Given the description of an element on the screen output the (x, y) to click on. 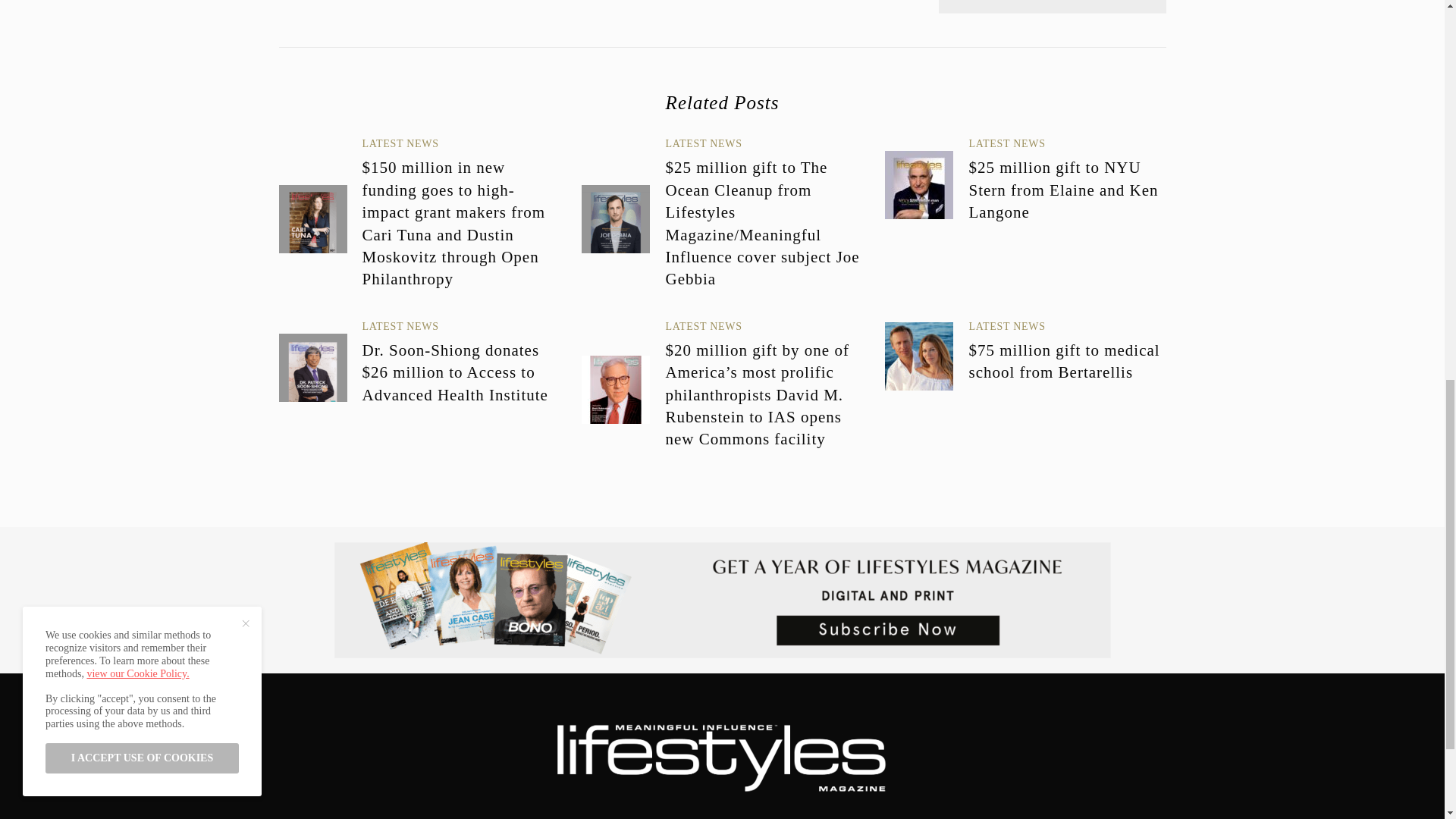
LATEST NEWS (1006, 143)
LATEST NEWS (400, 143)
LATEST NEWS (703, 326)
Lifestyles Magazine (722, 754)
LATEST NEWS (400, 326)
LATEST NEWS (703, 143)
LATEST NEWS (1006, 326)
